Given the description of an element on the screen output the (x, y) to click on. 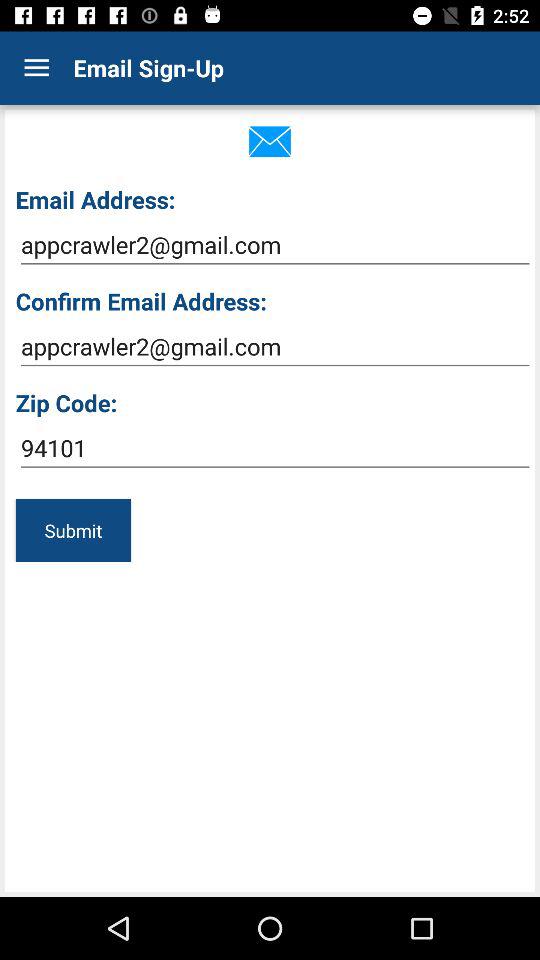
turn off the item to the left of the email sign-up icon (36, 68)
